Given the description of an element on the screen output the (x, y) to click on. 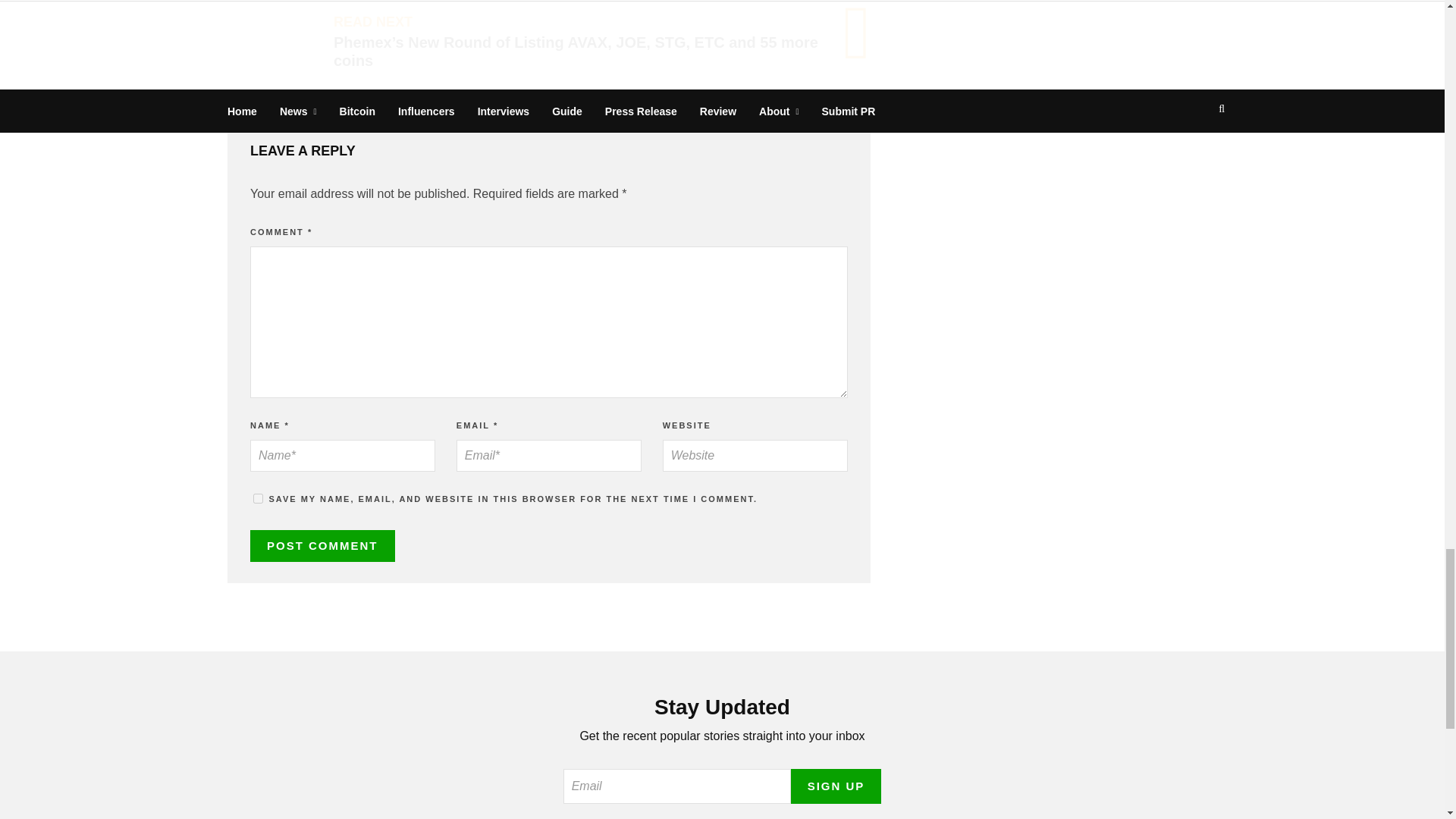
Sign up (836, 786)
Post Comment (322, 545)
yes (258, 498)
